Given the description of an element on the screen output the (x, y) to click on. 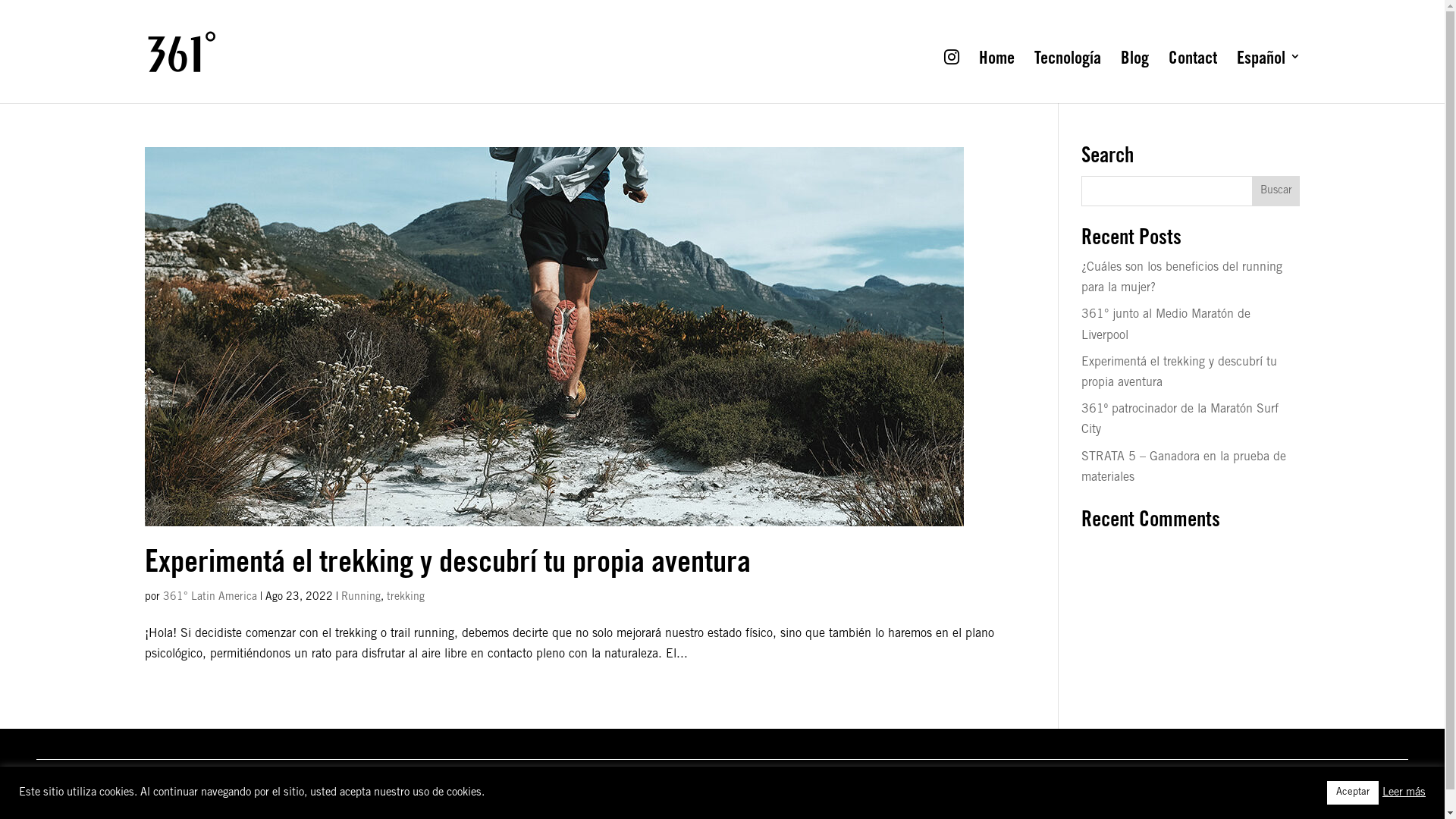
Running Element type: text (360, 597)
Aceptar Element type: text (1352, 792)
Blog Element type: text (1134, 73)
Privacy Policy Element type: text (149, 798)
Home Element type: text (995, 73)
Contact Element type: text (1191, 73)
trekking Element type: text (405, 597)
Buscar Element type: text (1276, 190)
